Given the description of an element on the screen output the (x, y) to click on. 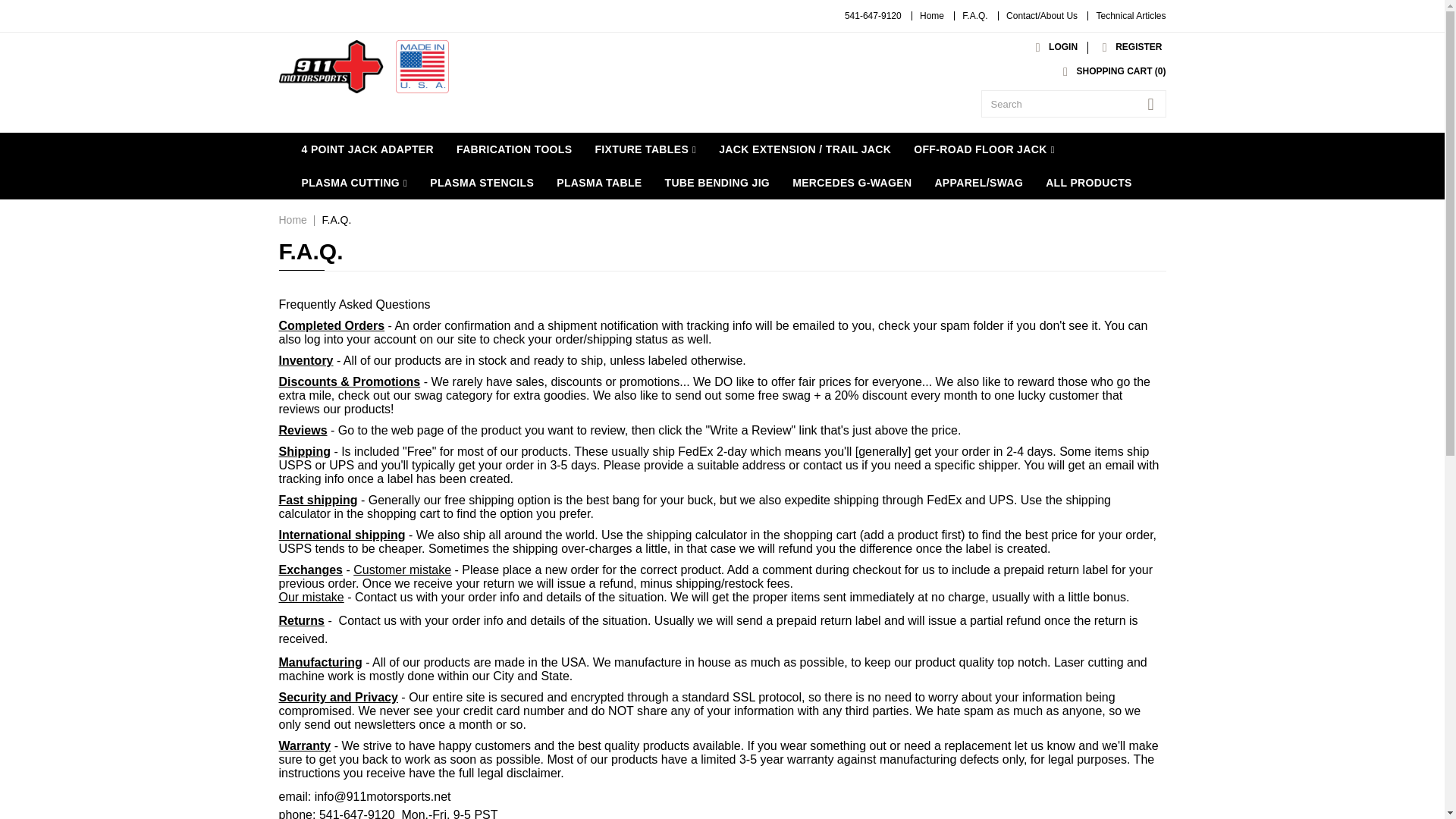
Technical Articles (1131, 15)
OFF-ROAD FLOOR JACK (983, 149)
541-647-9120 (872, 15)
PLASMA STENCILS (481, 182)
LOGIN (1053, 46)
4 POINT JACK ADAPTER (367, 149)
Home (931, 15)
PLASMA TABLE (598, 182)
REGISTER (1128, 46)
F.A.Q. (974, 15)
